Given the description of an element on the screen output the (x, y) to click on. 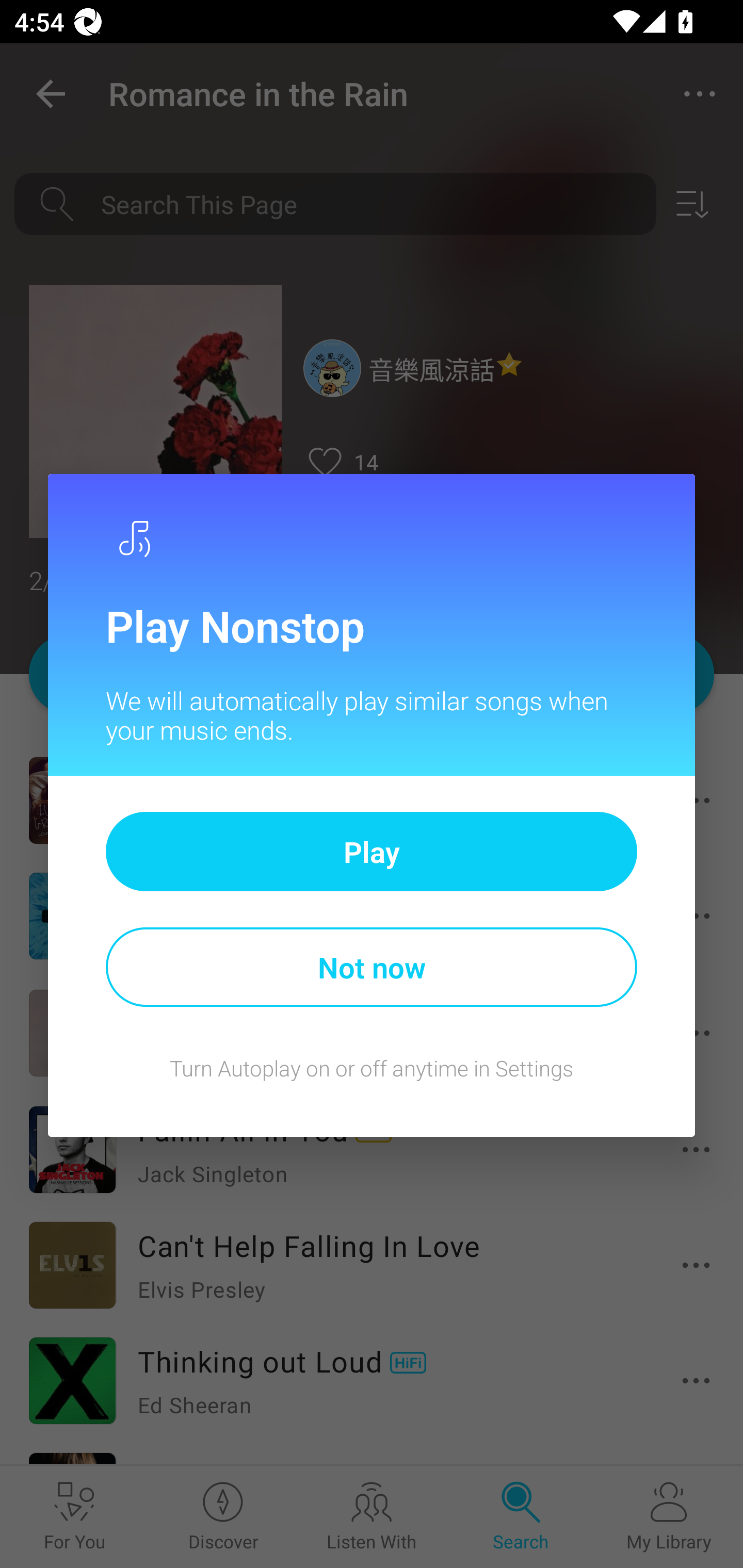
Play (371, 851)
Not now (371, 966)
